Given the description of an element on the screen output the (x, y) to click on. 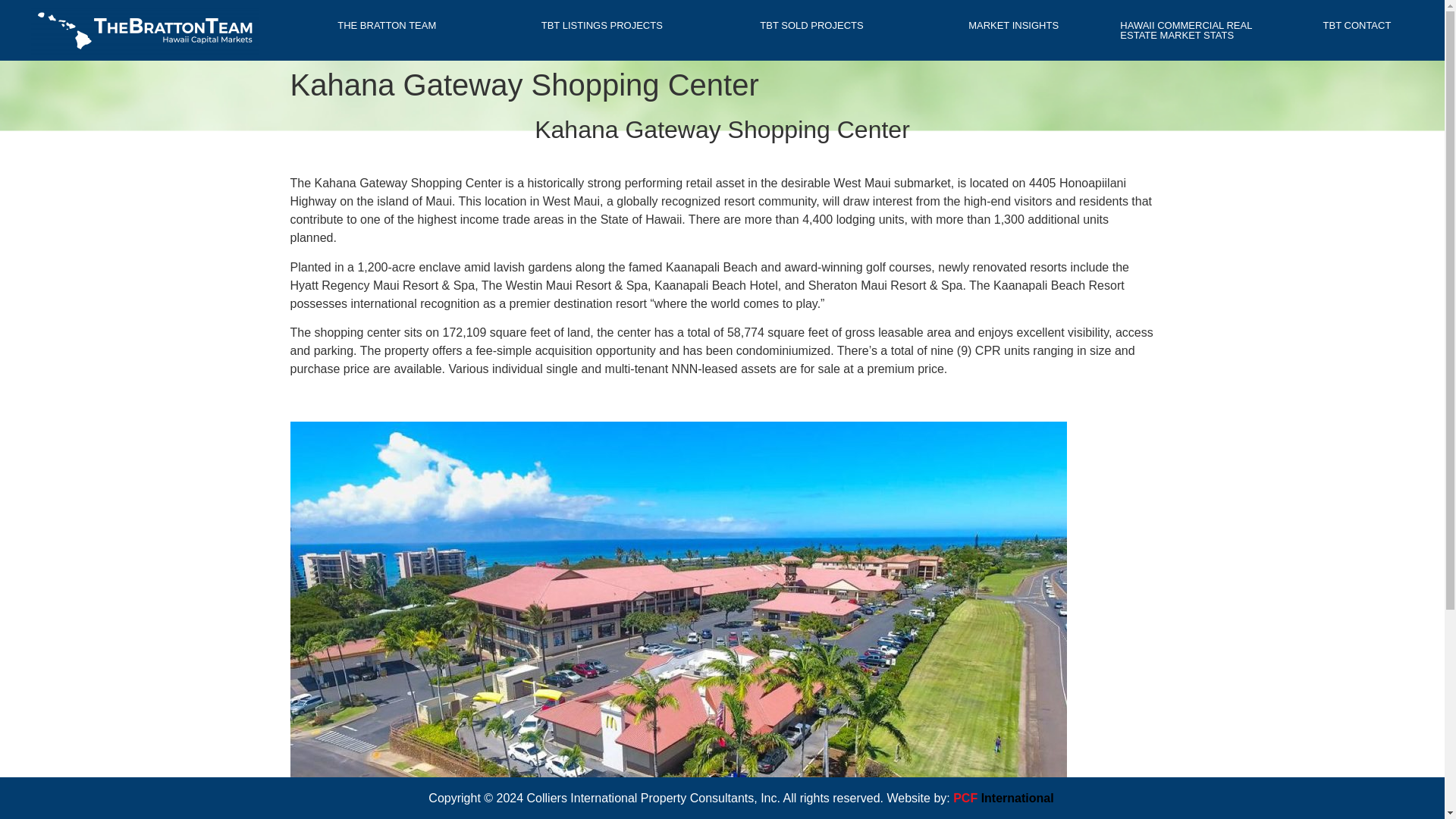
PCF International (1002, 797)
TBT CONTACT (1356, 25)
HAWAII COMMERCIAL REAL ESTATE MARKET STATS (1194, 30)
TBT SOLD PROJECTS (815, 25)
TBT LISTINGS PROJECTS (602, 25)
MARKET INSIGHTS (1017, 25)
THE BRATTON TEAM (390, 25)
